Given the description of an element on the screen output the (x, y) to click on. 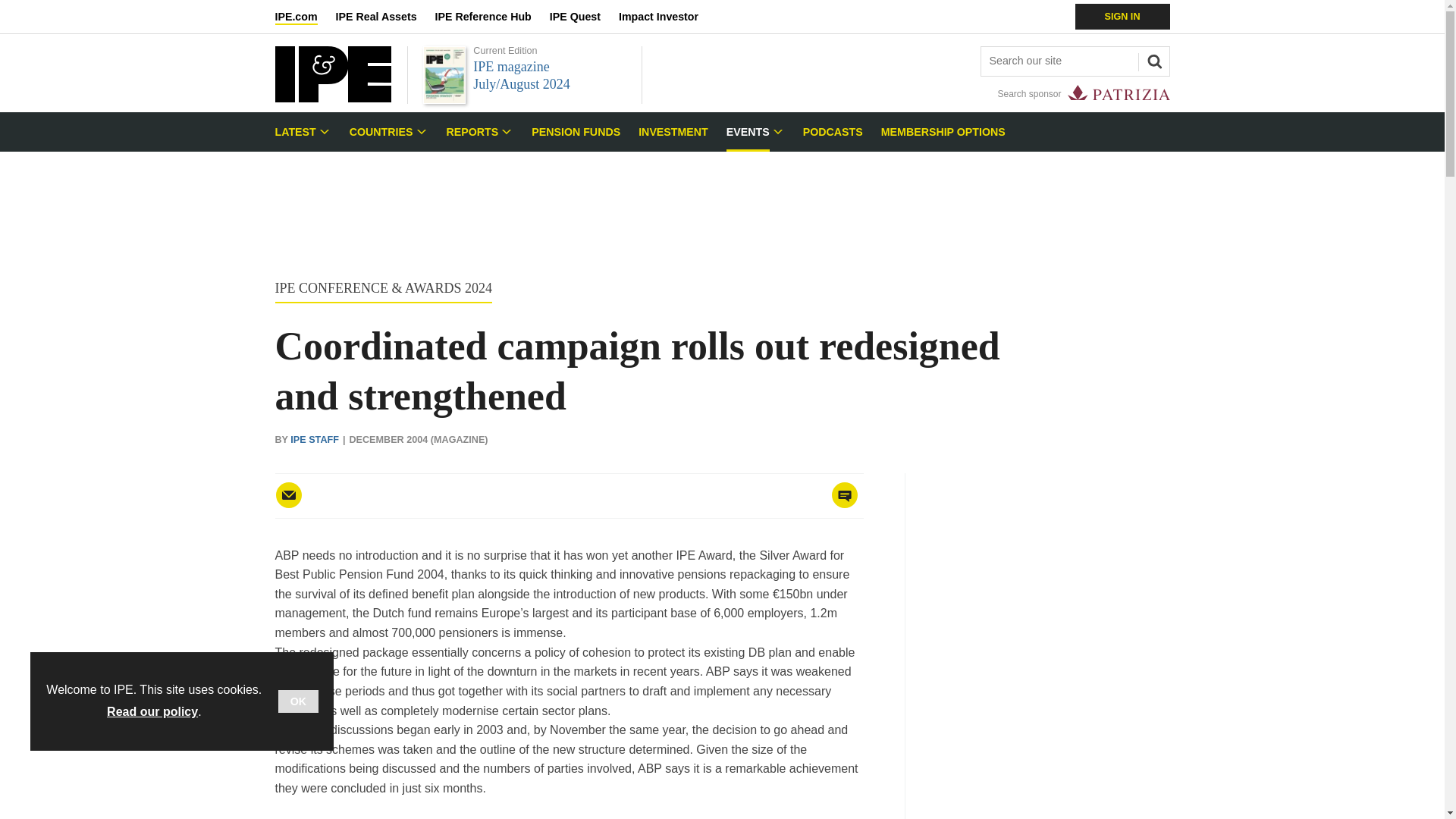
IPE Real Assets (384, 16)
IPE Quest (583, 16)
Impact Investor (667, 16)
IPE Real Assets (384, 16)
SIGN IN (1122, 16)
Read our policy (152, 711)
IPE (332, 97)
Impact Investor (667, 16)
OK (298, 701)
IPE Reference Hub (491, 16)
